Given the description of an element on the screen output the (x, y) to click on. 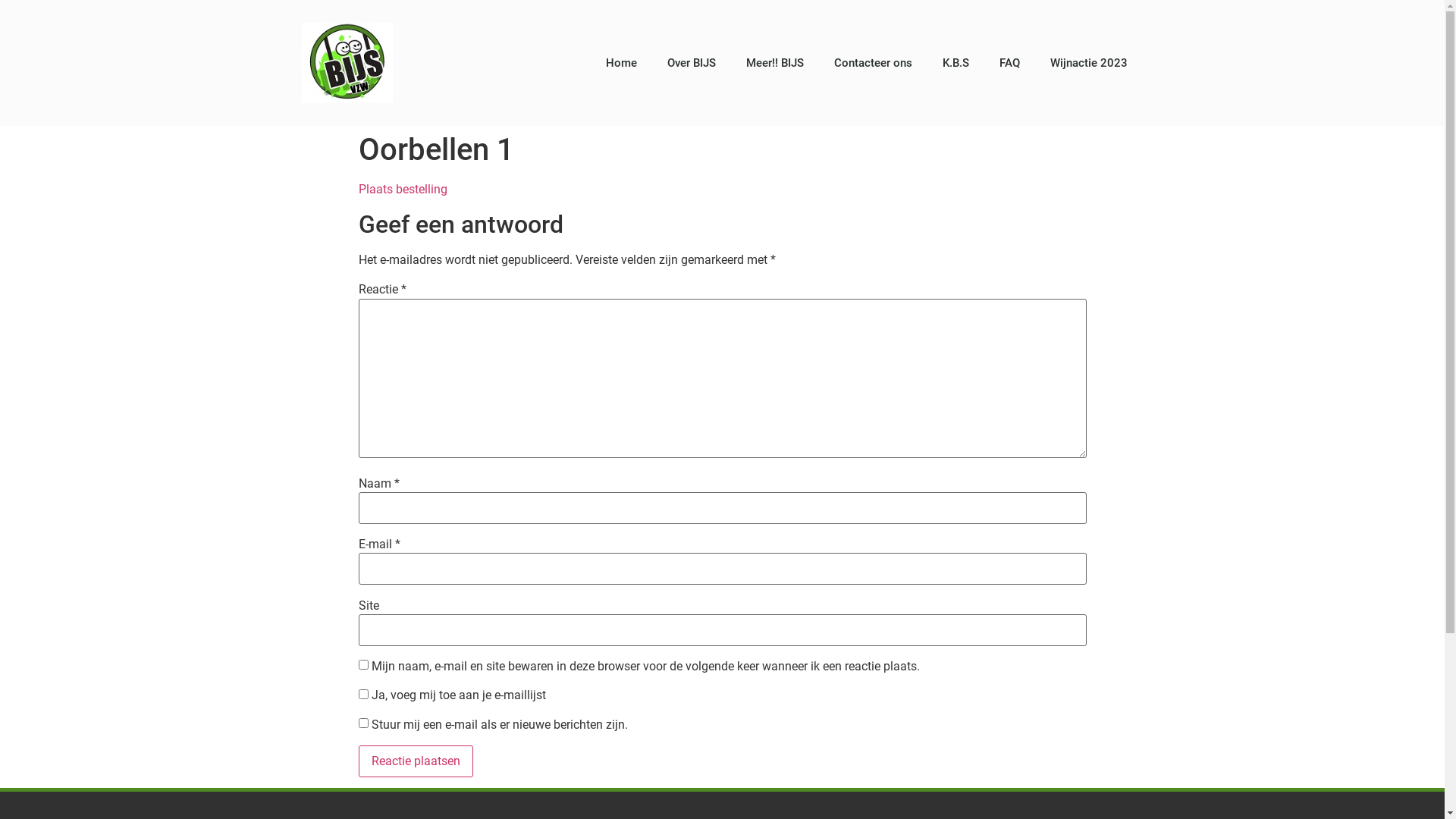
FAQ Element type: text (1009, 62)
K.B.S Element type: text (955, 62)
Over BIJS Element type: text (691, 62)
Home Element type: text (621, 62)
Contacteer ons Element type: text (873, 62)
Reactie plaatsen Element type: text (414, 761)
Meer!! BIJS Element type: text (775, 62)
Plaats bestelling Element type: text (401, 189)
Wijnactie 2023 Element type: text (1088, 62)
